Given the description of an element on the screen output the (x, y) to click on. 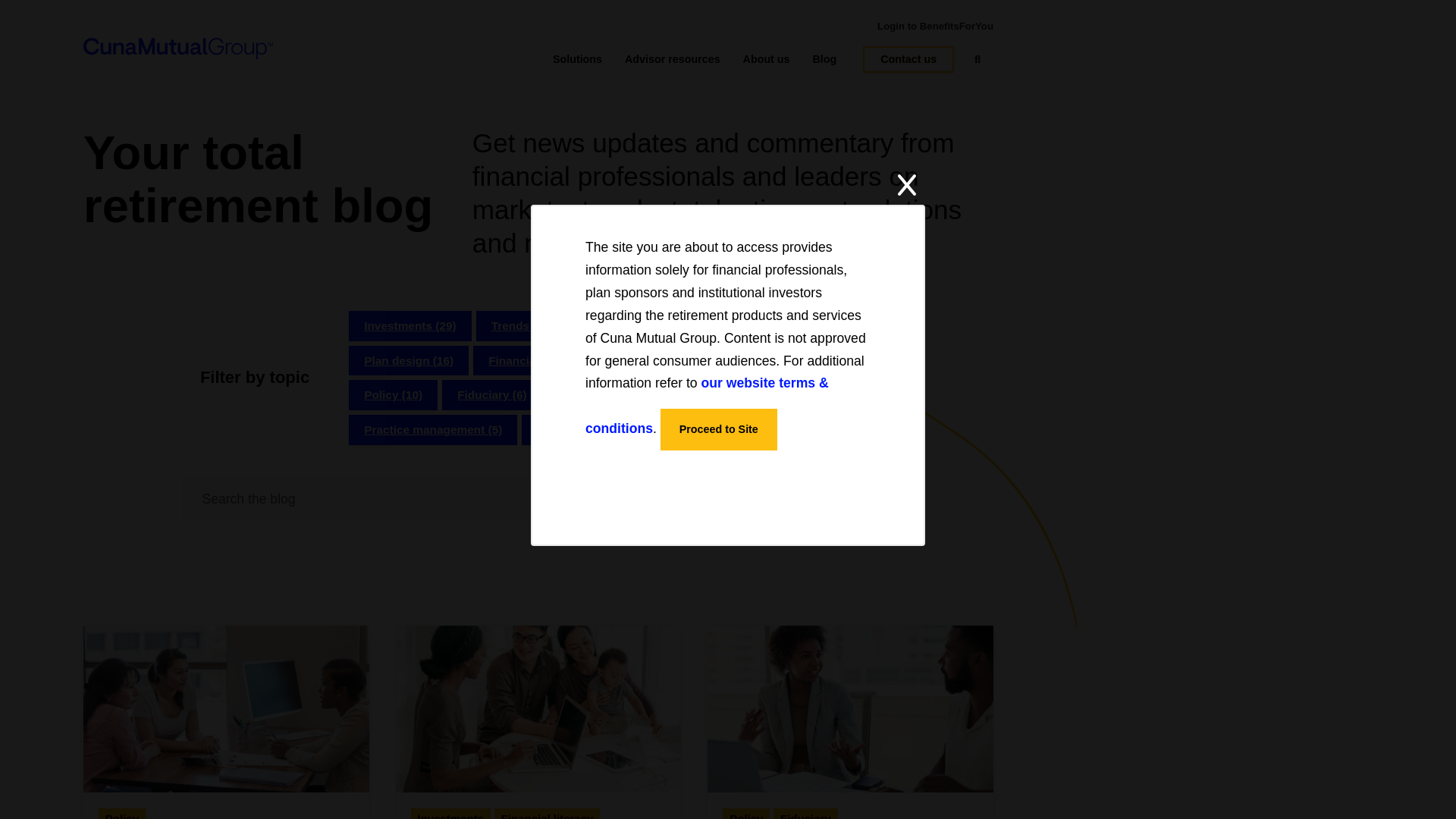
cuna-mutual-group-tm-logo (177, 47)
Advisor resources (672, 59)
Solutions (577, 59)
About us (766, 59)
Contact us (908, 58)
Login to BenefitsForYou (934, 25)
Proceed to Site (719, 429)
